Given the description of an element on the screen output the (x, y) to click on. 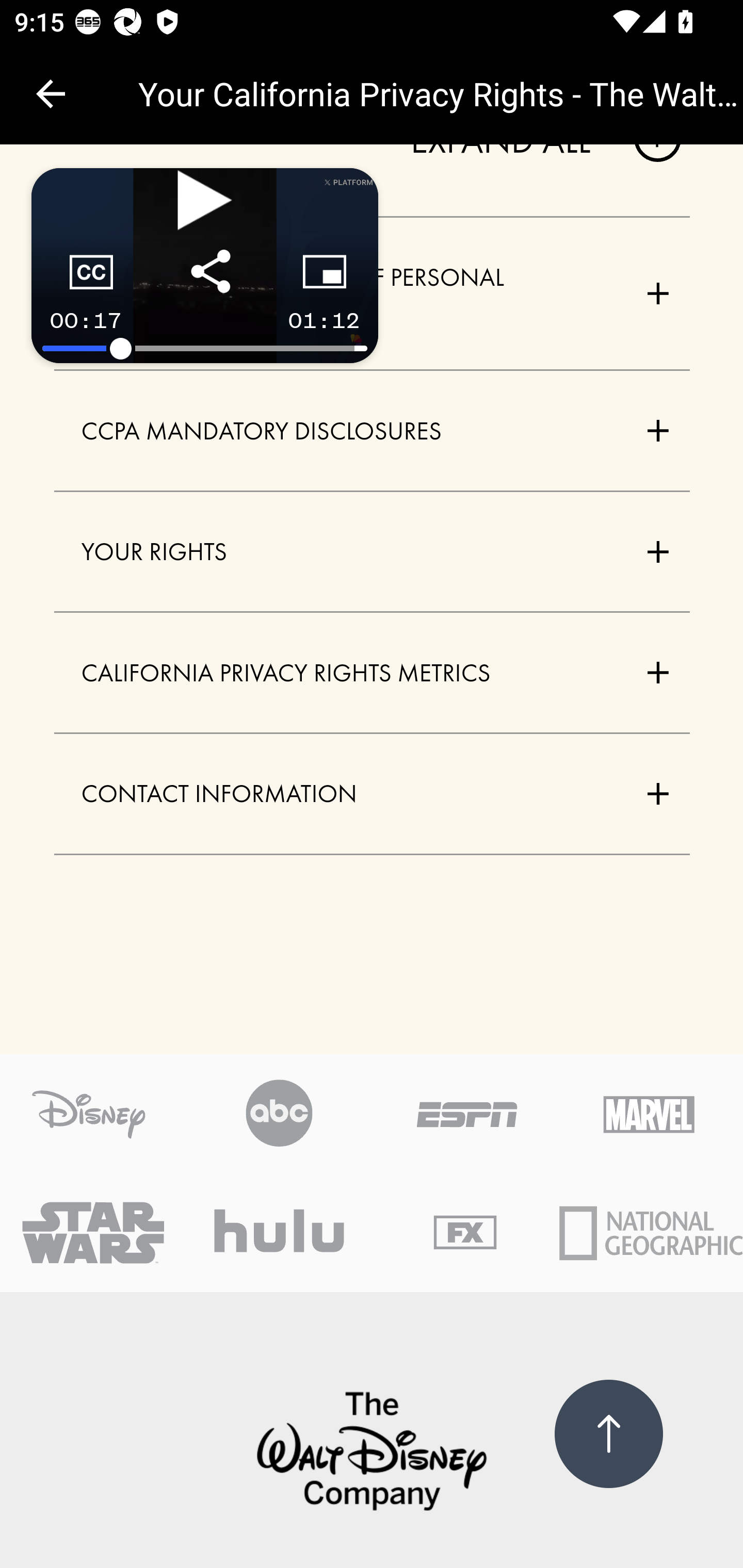
Navigate up (50, 93)
ACCORDION TOGGLE CCPA MANDATORY DISCLOSURES (372, 431)
ACCORDION TOGGLE YOUR RIGHTS (372, 551)
ACCORDION TOGGLE CALIFORNIA PRIVACY RIGHTS METRICS (372, 672)
ACCORDION TOGGLE CONTACT INFORMATION (372, 794)
Back to Top back-to-top Back to Top back-to-top (608, 1434)
Disney (371, 1453)
